Given the description of an element on the screen output the (x, y) to click on. 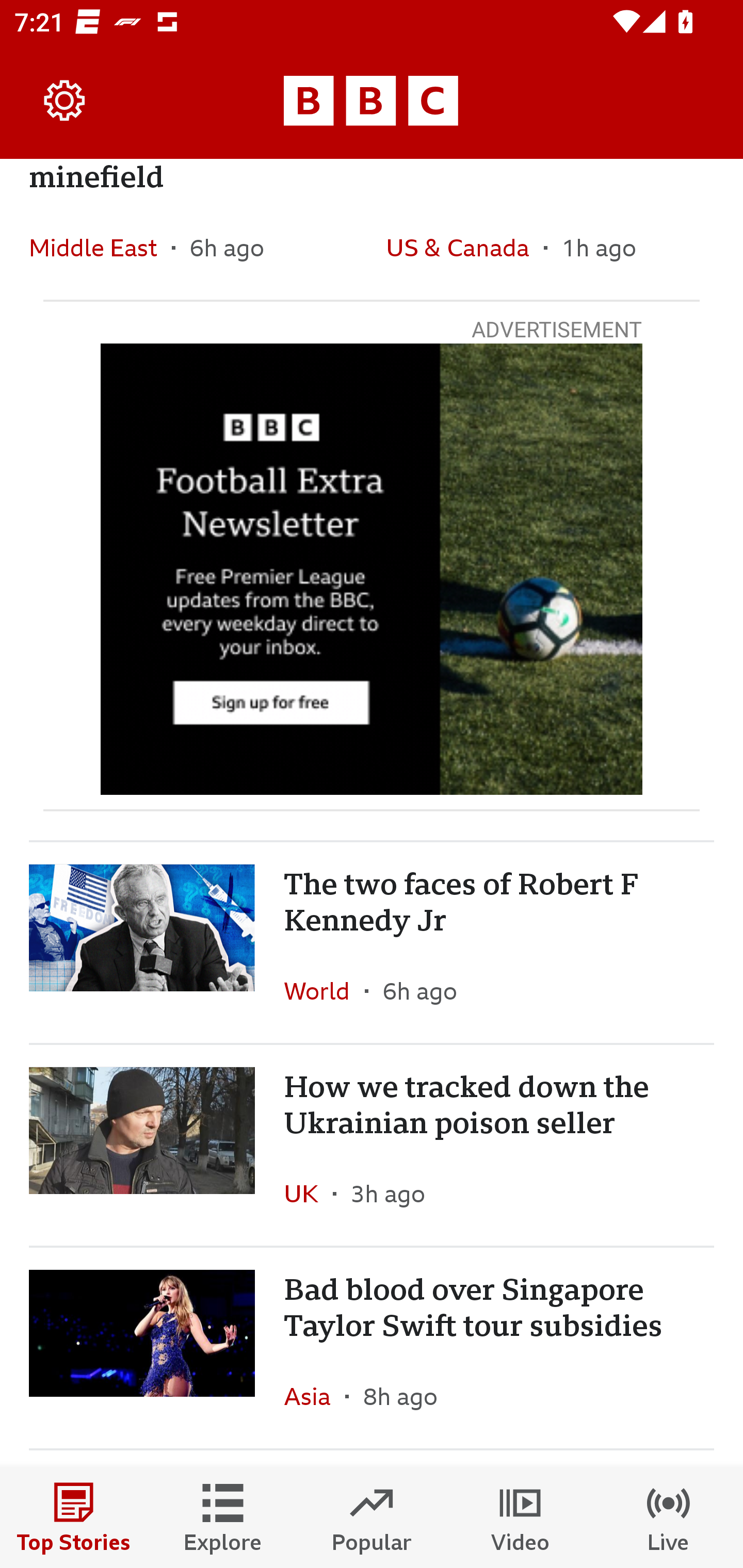
Settings (64, 100)
Middle East In the section Middle East (99, 247)
US & Canada In the section US & Canada (464, 247)
World In the section World (323, 990)
UK In the section UK (307, 1192)
Asia In the section Asia (314, 1395)
Explore (222, 1517)
Popular (371, 1517)
Video (519, 1517)
Live (668, 1517)
